Given the description of an element on the screen output the (x, y) to click on. 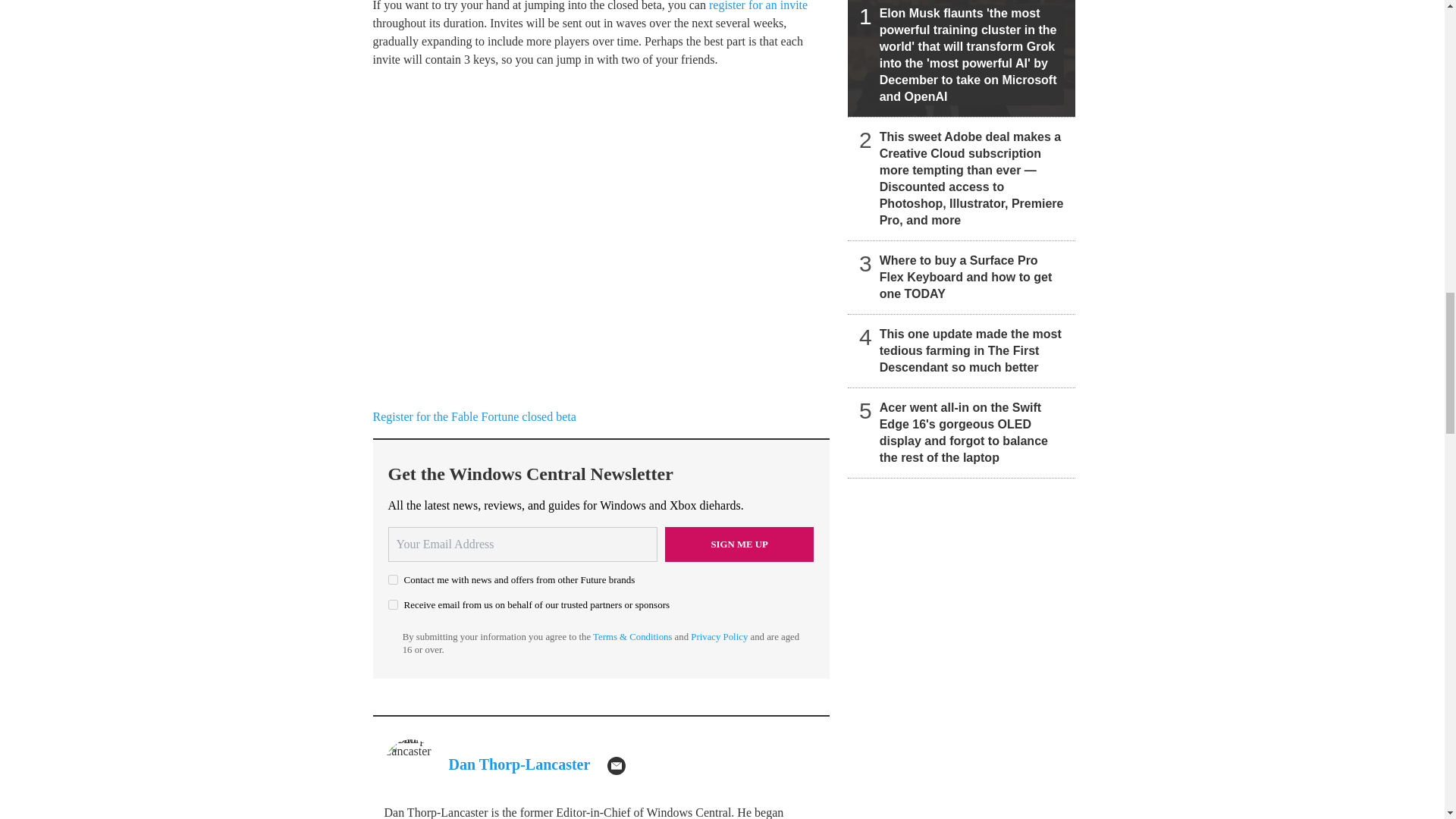
Sign me up (739, 544)
on (392, 604)
register for an invite (758, 5)
Register for the Fable Fortune closed beta (474, 416)
on (392, 579)
Sign me up (739, 544)
